Given the description of an element on the screen output the (x, y) to click on. 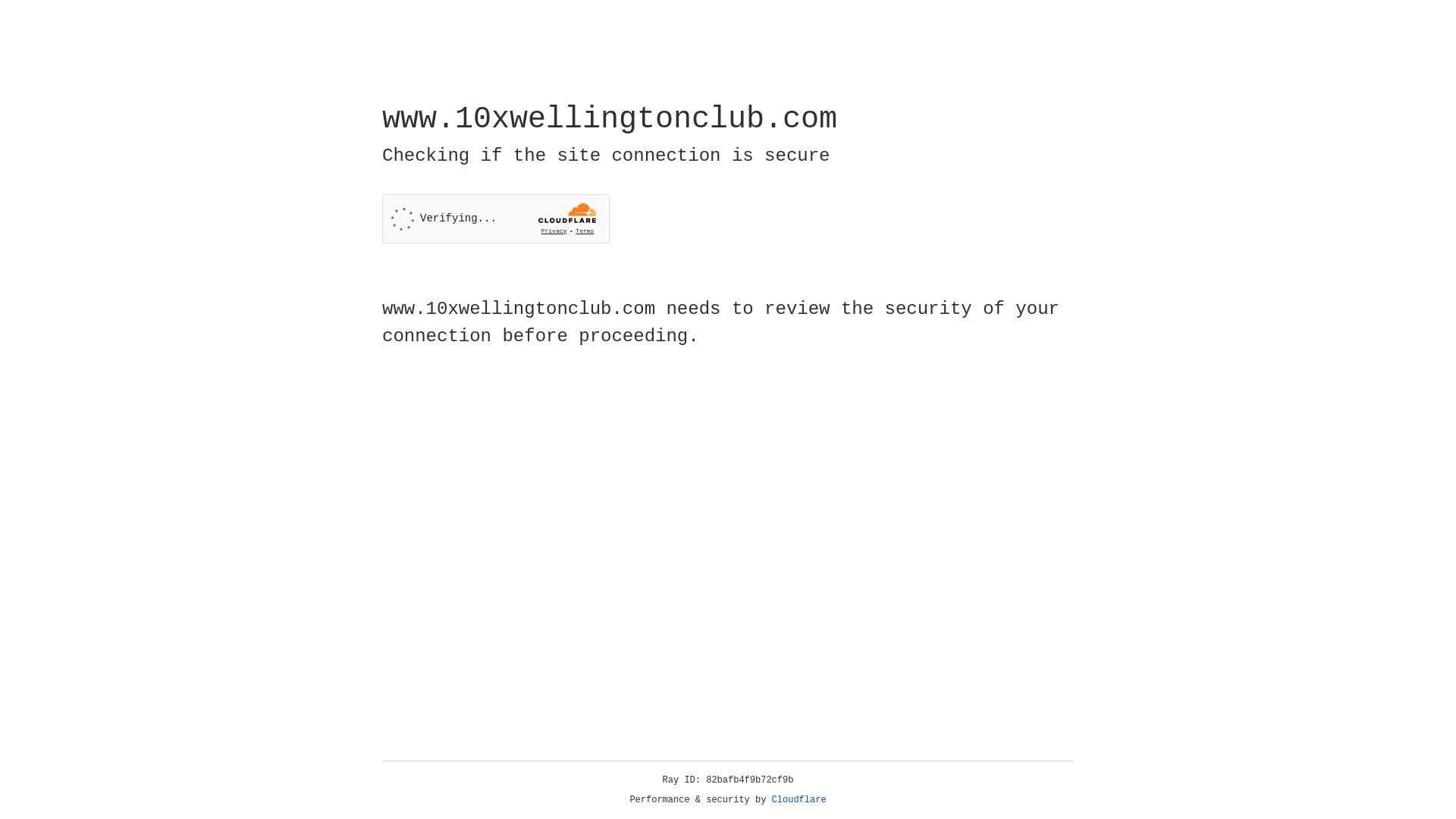
Cloudflare Element type: text (798, 799)
Widget containing a Cloudflare security challenge Element type: hover (495, 218)
